Given the description of an element on the screen output the (x, y) to click on. 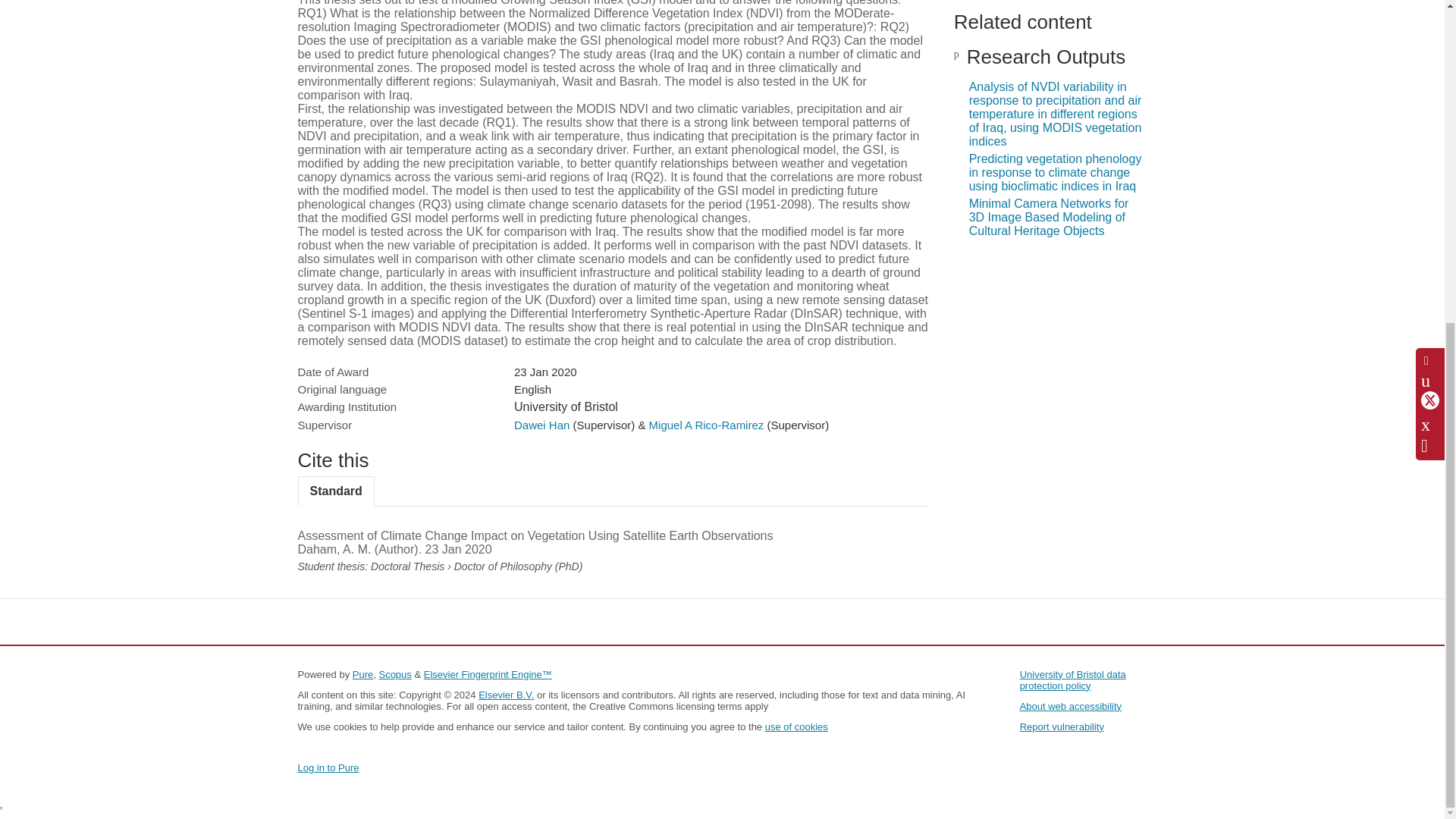
Scopus (394, 674)
use of cookies (796, 726)
Log in to Pure (327, 767)
Report vulnerability (1061, 726)
University of Bristol data protection policy (1072, 680)
About web accessibility (1070, 706)
Miguel A Rico-Ramirez (706, 424)
